Given the description of an element on the screen output the (x, y) to click on. 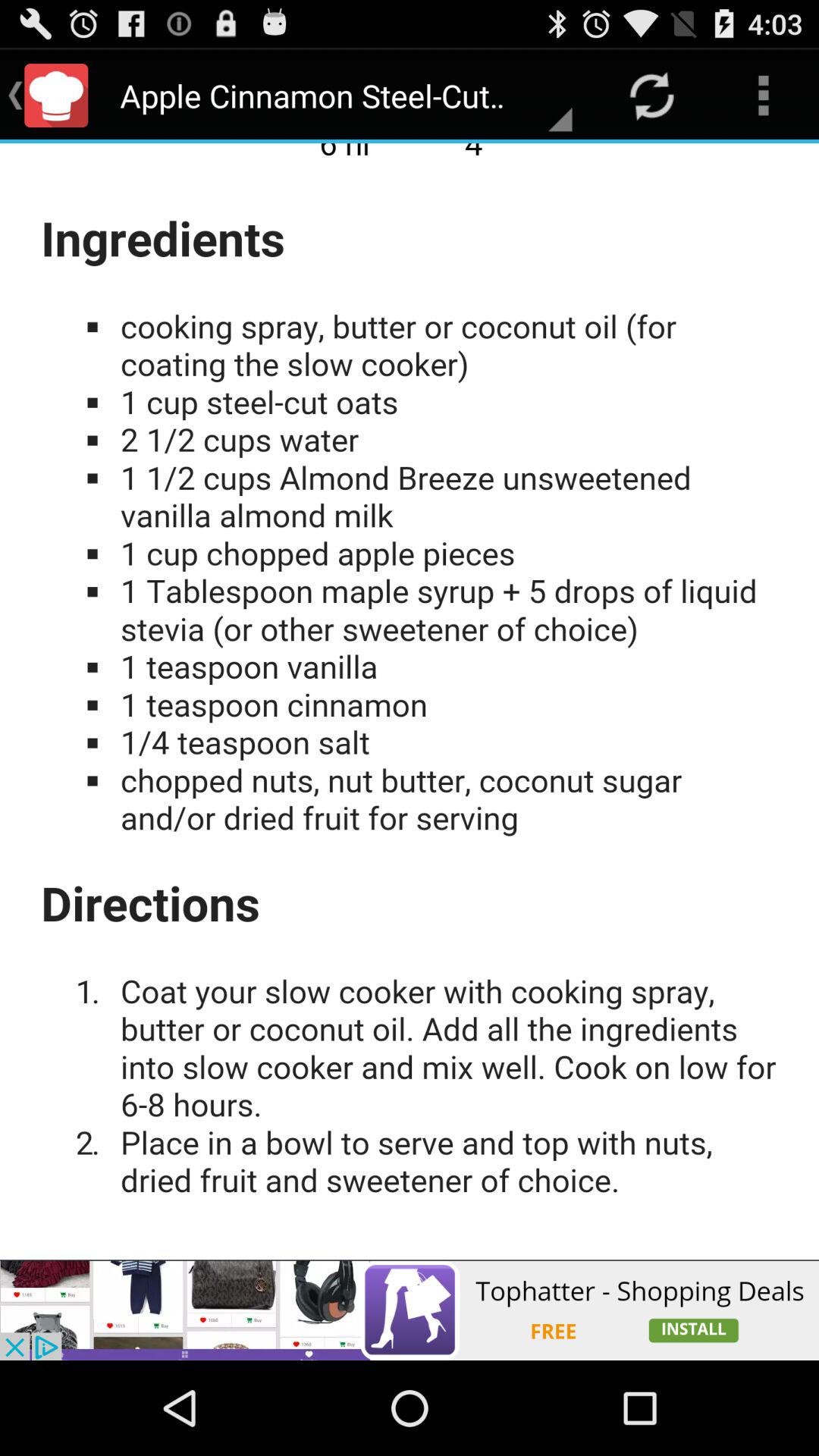
description (409, 701)
